Given the description of an element on the screen output the (x, y) to click on. 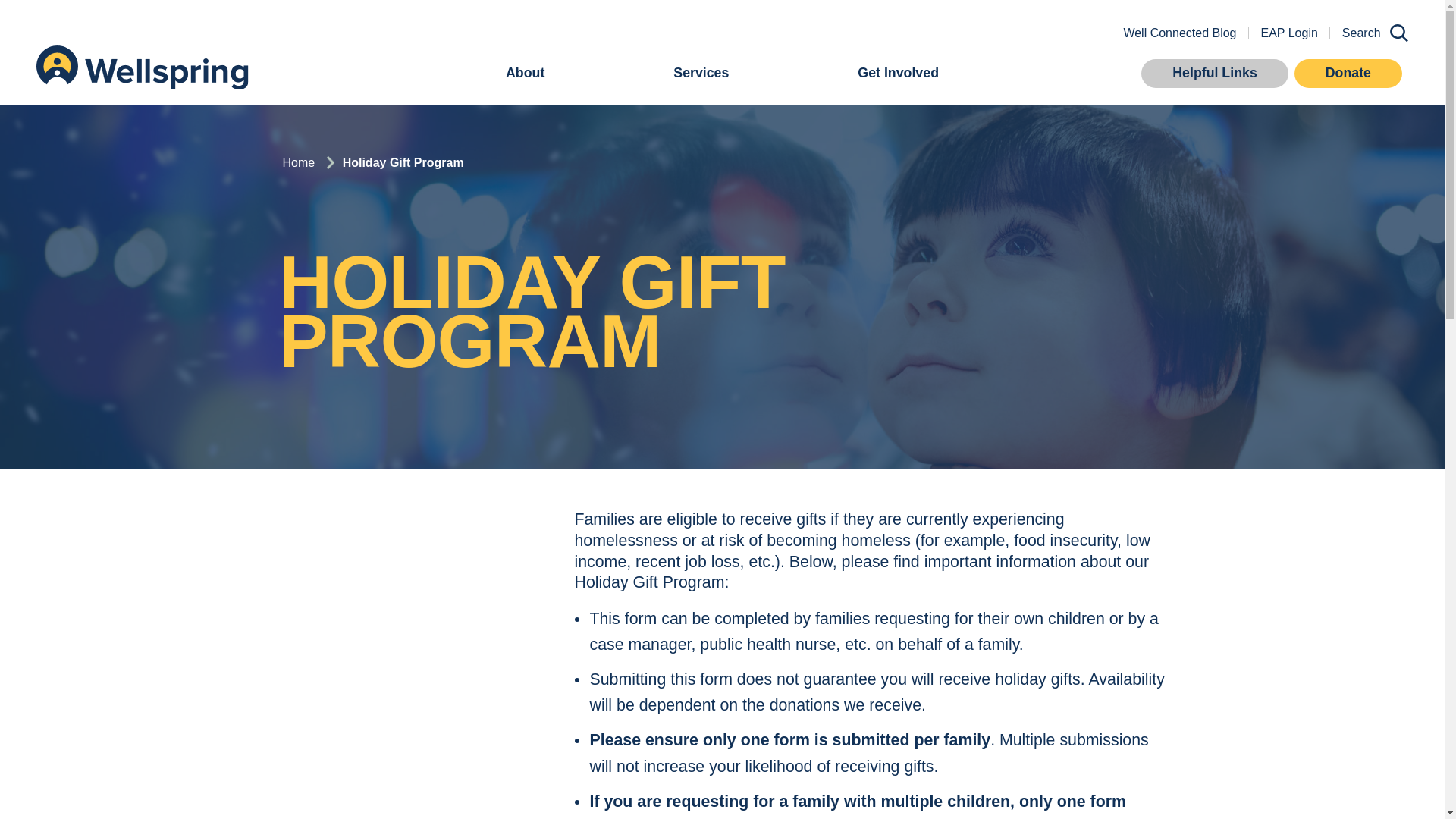
Services (701, 73)
Well Connected Blog (1178, 33)
Donate (1348, 72)
About (524, 73)
Helpful Links (1214, 72)
Get Involved (897, 73)
EAP Login (1289, 33)
Go to Wellspring. (298, 162)
Search (1368, 33)
